Given the description of an element on the screen output the (x, y) to click on. 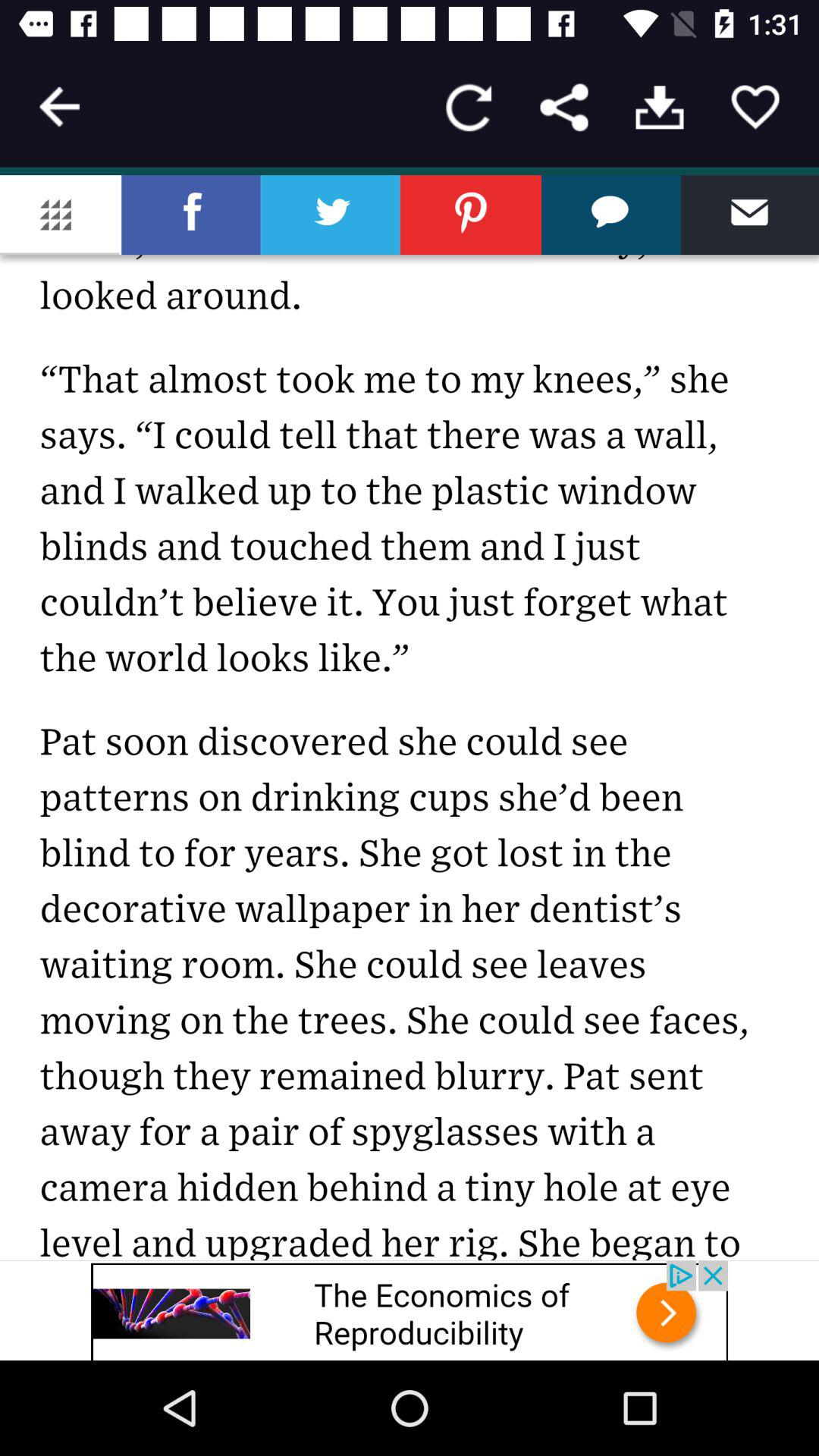
forward (564, 107)
